Given the description of an element on the screen output the (x, y) to click on. 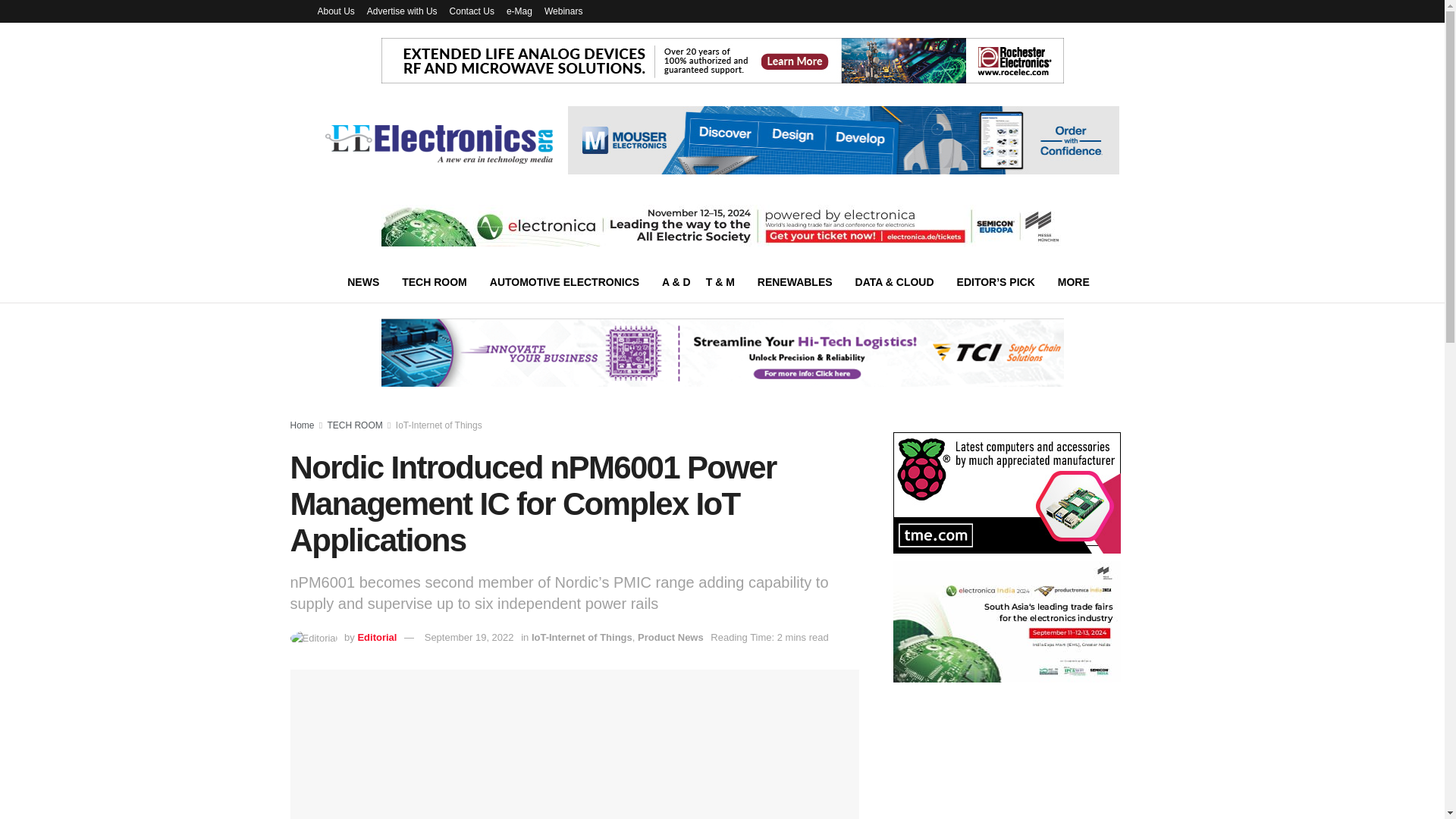
Advertise with Us (402, 11)
Contact Us (472, 11)
e-Mag (519, 11)
About Us (335, 11)
Webinars (563, 11)
